Given the description of an element on the screen output the (x, y) to click on. 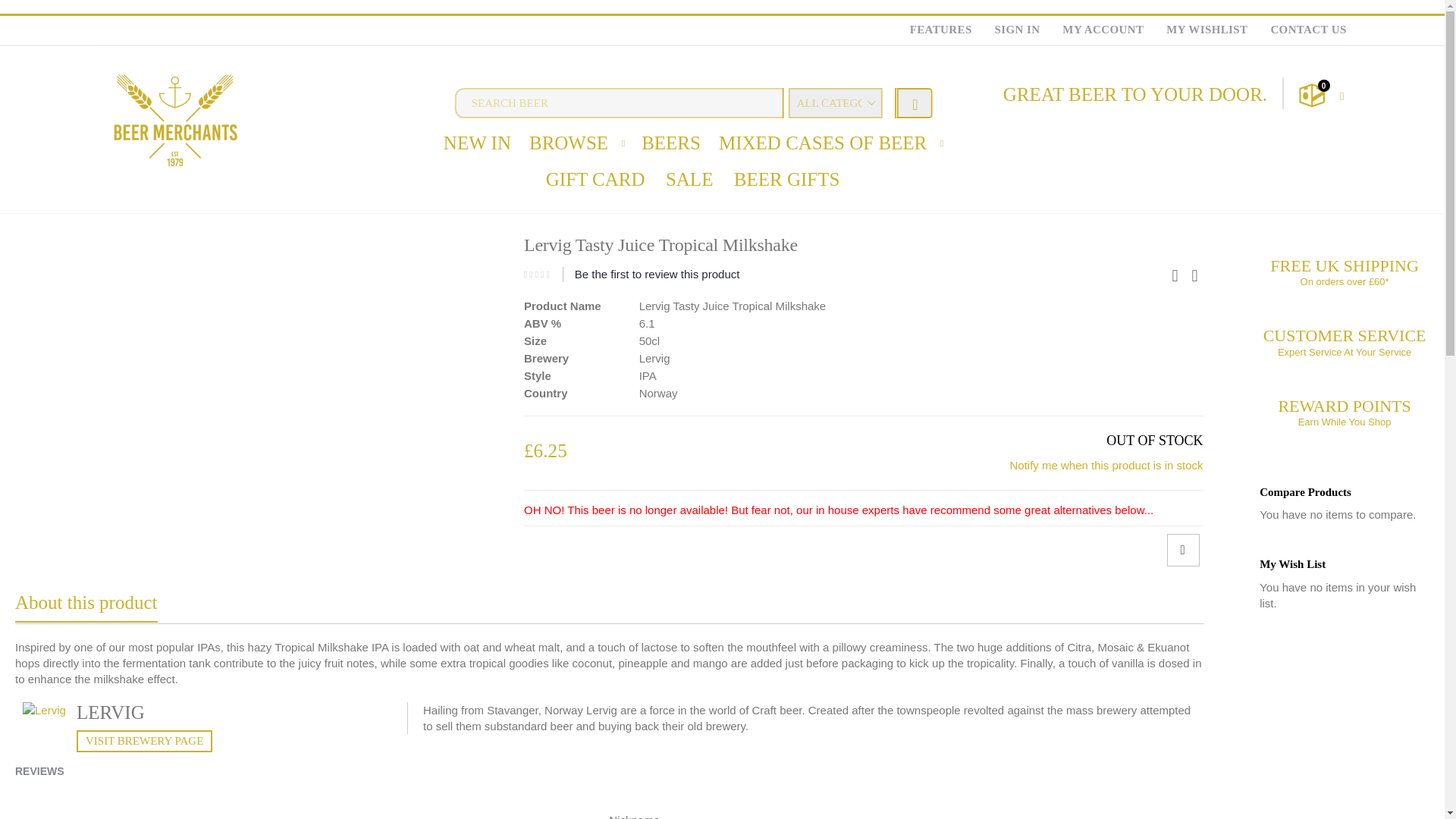
SIGN IN (1017, 29)
MY ACCOUNT (1102, 29)
FEATURES (941, 29)
Browse (568, 142)
CONTACT US (1302, 29)
NEW IN (476, 142)
Search (913, 102)
BROWSE (568, 142)
MY WISHLIST (1206, 29)
Search (913, 102)
